Given the description of an element on the screen output the (x, y) to click on. 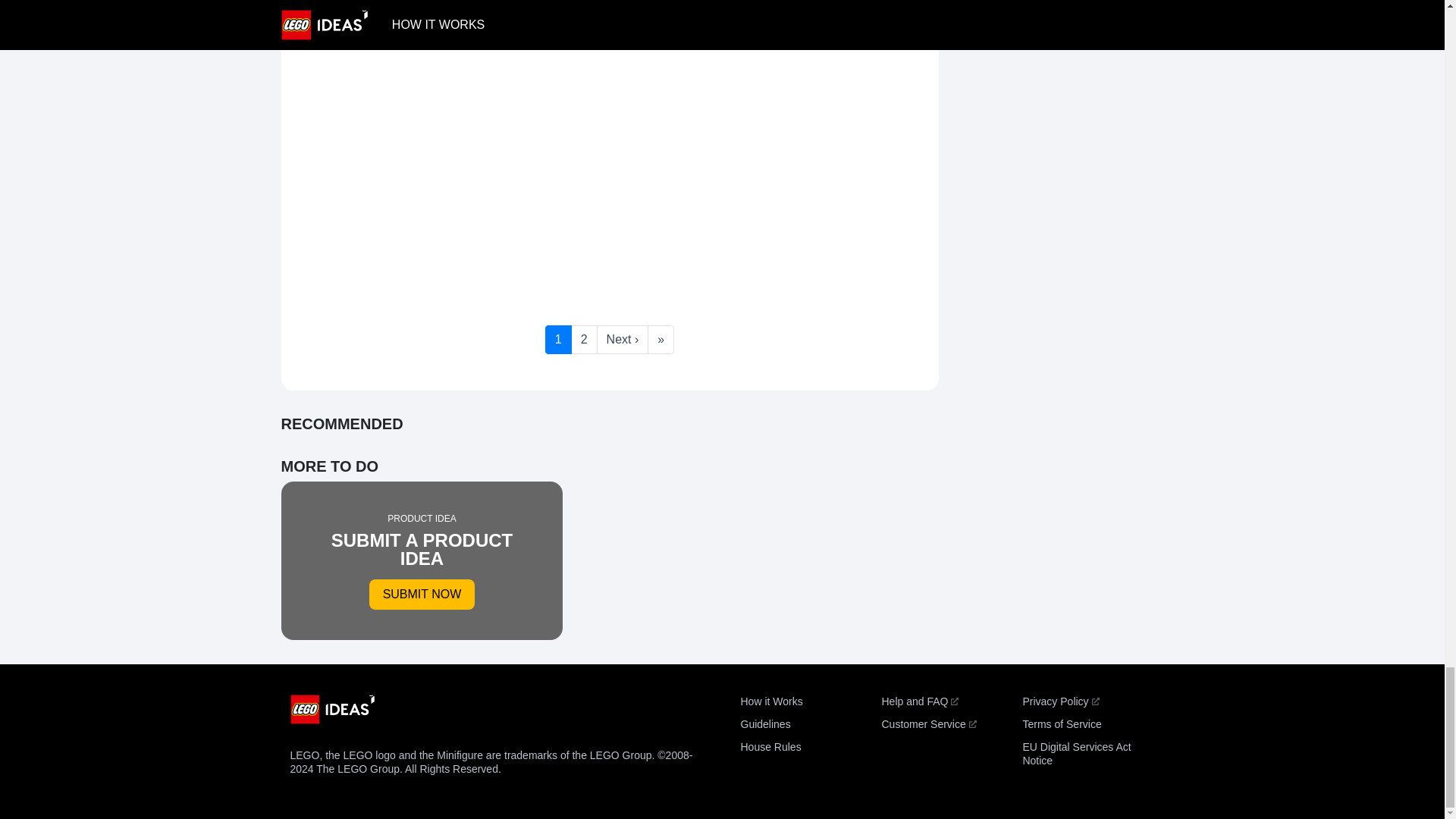
Help and FAQ (919, 701)
Guidelines (764, 724)
2 (583, 339)
Customer Service (421, 560)
Privacy Policy (927, 724)
1 (1060, 701)
How it Works (558, 339)
EU Digital Services Act Notice (770, 701)
Terms of Service (1076, 753)
